Given the description of an element on the screen output the (x, y) to click on. 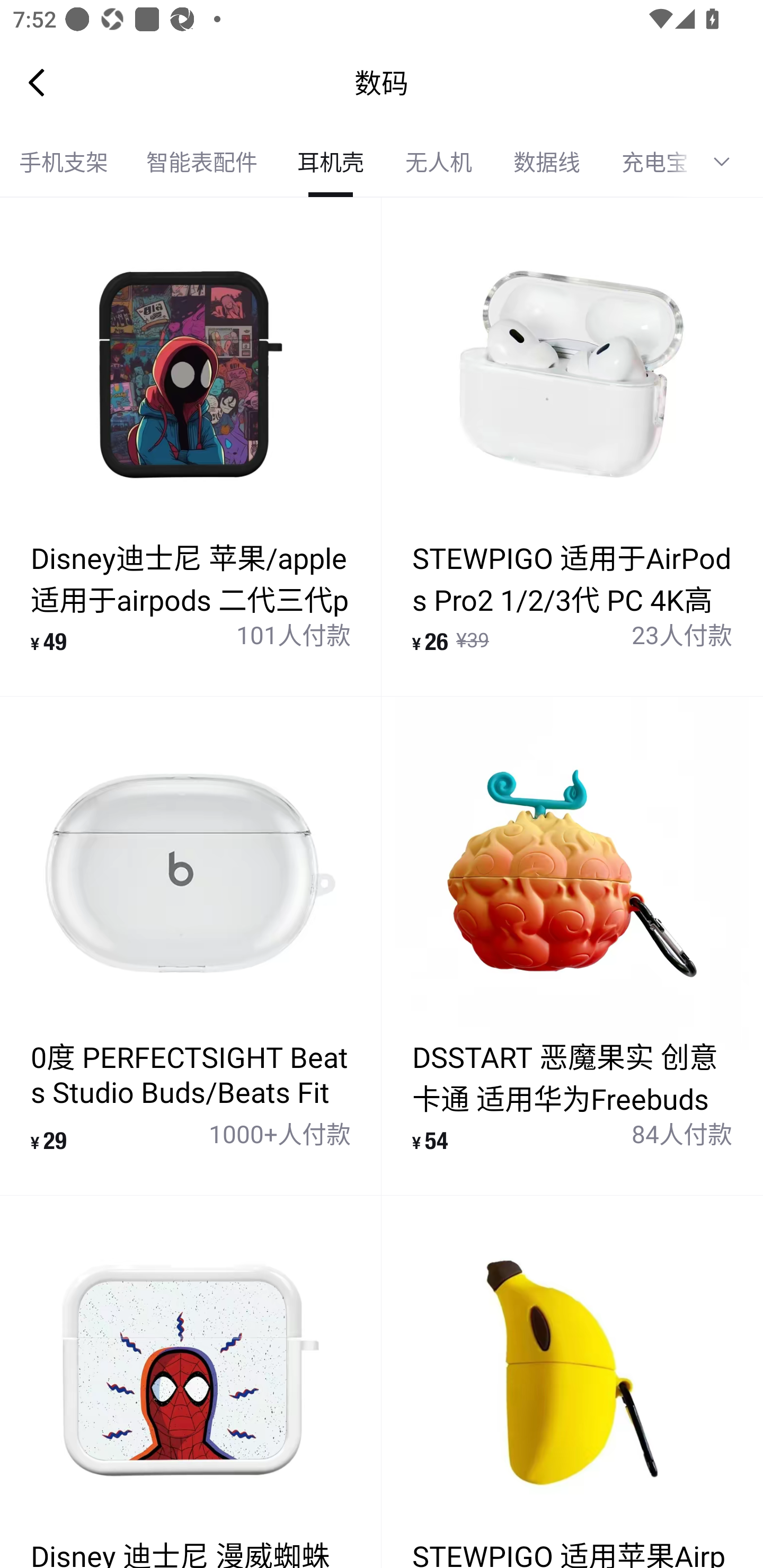
Navigate up (36, 82)
手机支架 (63, 162)
智能表配件 (201, 162)
耳机壳 (330, 162)
无人机 (438, 162)
数据线 (546, 162)
充电宝 (646, 162)
 (727, 162)
